Given the description of an element on the screen output the (x, y) to click on. 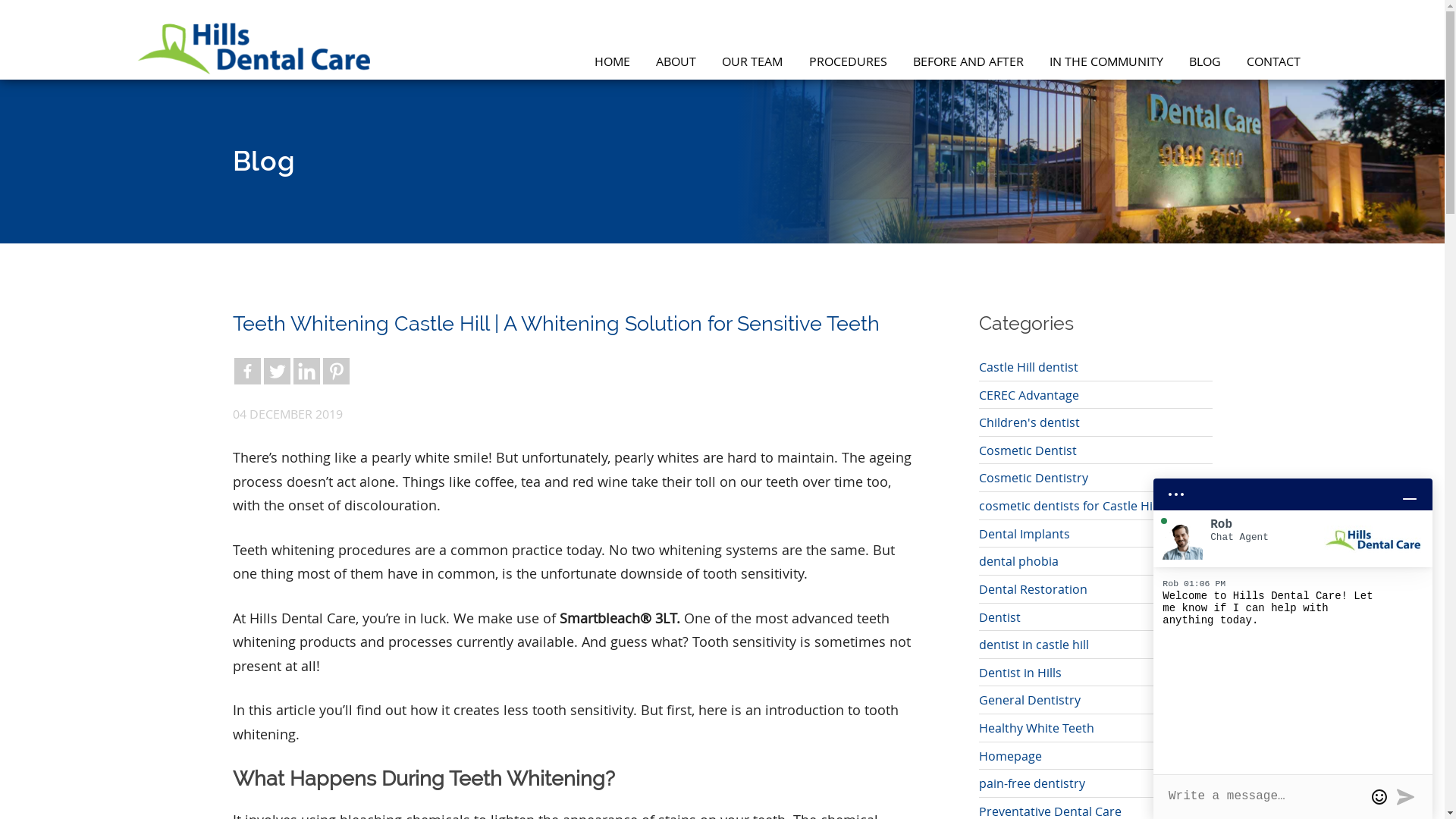
Cosmetic Dentist Element type: text (1027, 449)
CEREC Advantage Element type: text (1029, 394)
Preventative Dental Care Element type: text (1050, 810)
ABOUT Element type: text (675, 63)
IN THE COMMUNITY Element type: text (1106, 63)
Castle Hill dentist Element type: text (1028, 366)
BLOG Element type: text (1204, 63)
Healthy White Teeth Element type: text (1036, 727)
dental phobia Element type: text (1018, 560)
Dental Restoration Element type: text (1033, 588)
dentist in castle hill Element type: text (1033, 644)
Pinterest Element type: hover (336, 370)
Dentist in Hills Element type: text (1020, 672)
pain-free dentistry Element type: text (1032, 782)
General Dentistry Element type: text (1029, 699)
PROCEDURES Element type: text (848, 63)
Facebook Element type: hover (246, 370)
Children's dentist Element type: text (1029, 421)
Dentist Element type: text (999, 616)
HOME Element type: text (612, 63)
Twitter Element type: hover (276, 370)
OUR TEAM Element type: text (751, 63)
BEFORE AND AFTER Element type: text (967, 63)
CONTACT Element type: text (1273, 63)
Dental Implants Element type: text (1024, 533)
Homepage Element type: text (1010, 755)
cosmetic dentists for Castle Hill Element type: text (1068, 505)
Cosmetic Dentistry Element type: text (1033, 477)
Linkedin Element type: hover (305, 370)
